Given the description of an element on the screen output the (x, y) to click on. 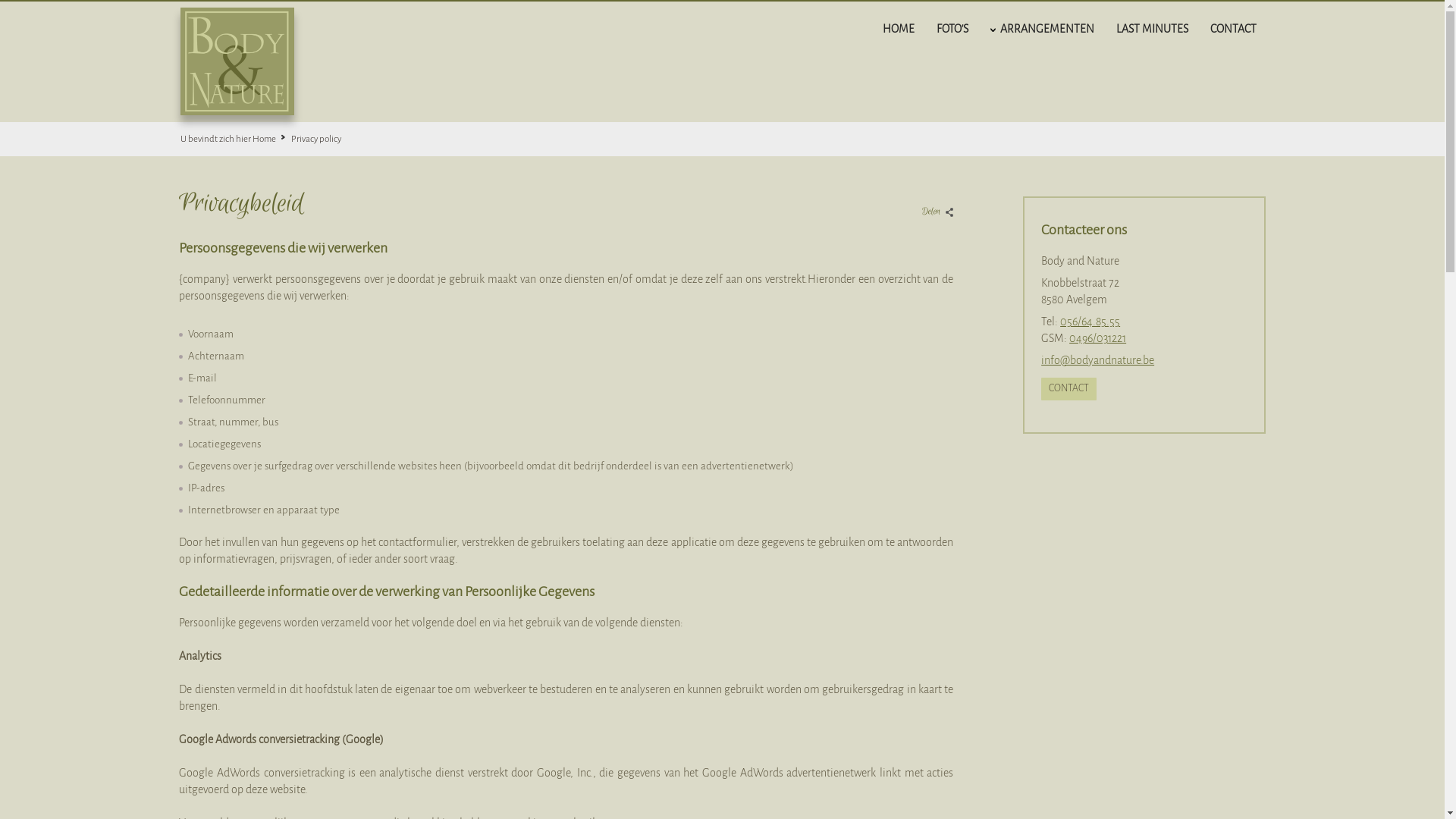
CONTACT Element type: text (1068, 388)
0496/031221 Element type: text (1097, 338)
Home Element type: text (270, 139)
LAST MINUTES Element type: text (1152, 27)
056/64.85.55 Element type: text (1090, 321)
CONTACT Element type: text (1233, 27)
FOTO'S Element type: text (952, 27)
HOME Element type: text (898, 27)
info@bodyandnature.be Element type: text (1097, 360)
Body and Nature Element type: hover (237, 61)
ARRANGEMENTEN Element type: text (1047, 27)
Delen Element type: text (934, 206)
